Given the description of an element on the screen output the (x, y) to click on. 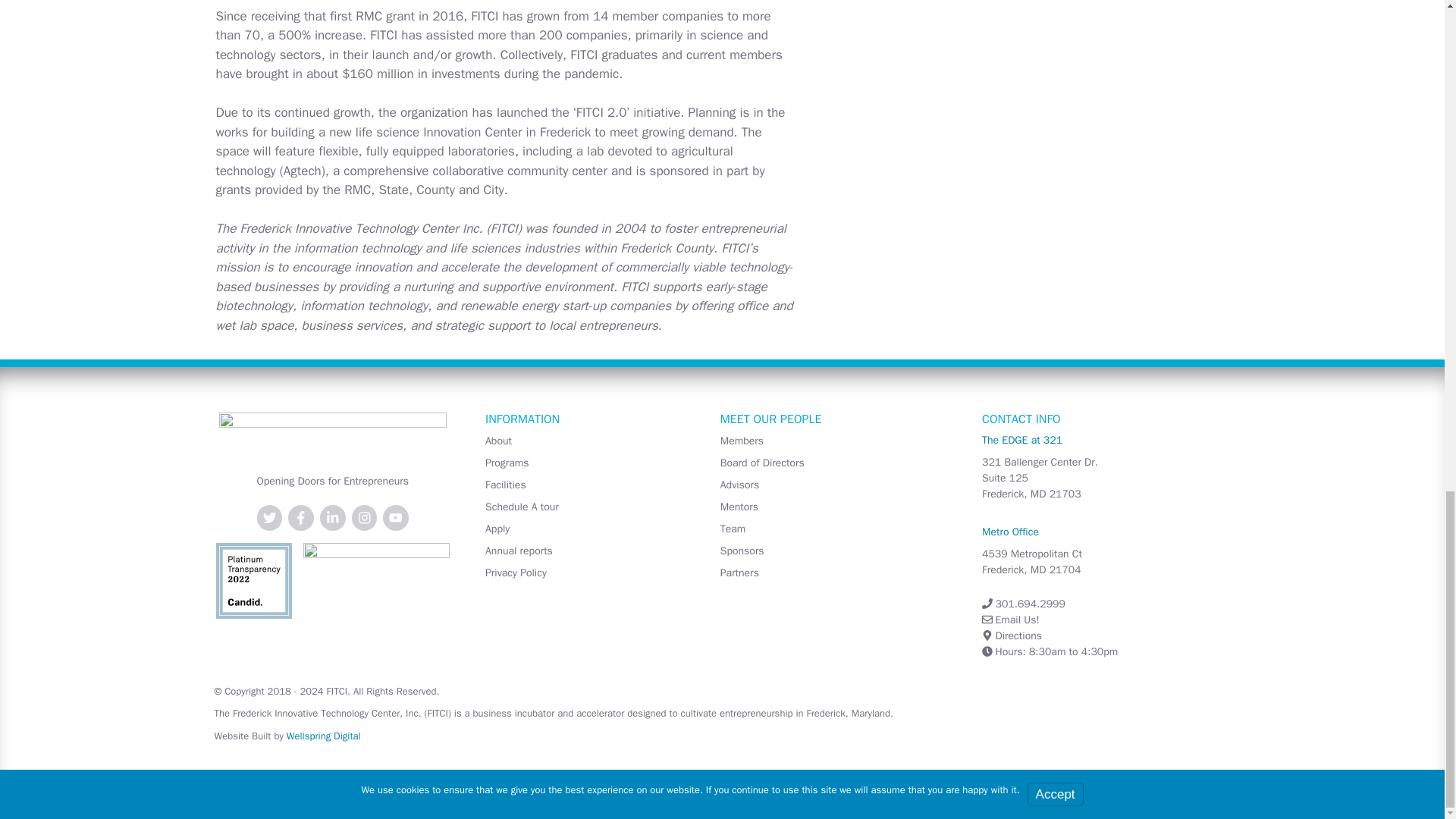
fitci-logo (332, 434)
gximage2 (253, 580)
donate-logo-button (375, 574)
